Given the description of an element on the screen output the (x, y) to click on. 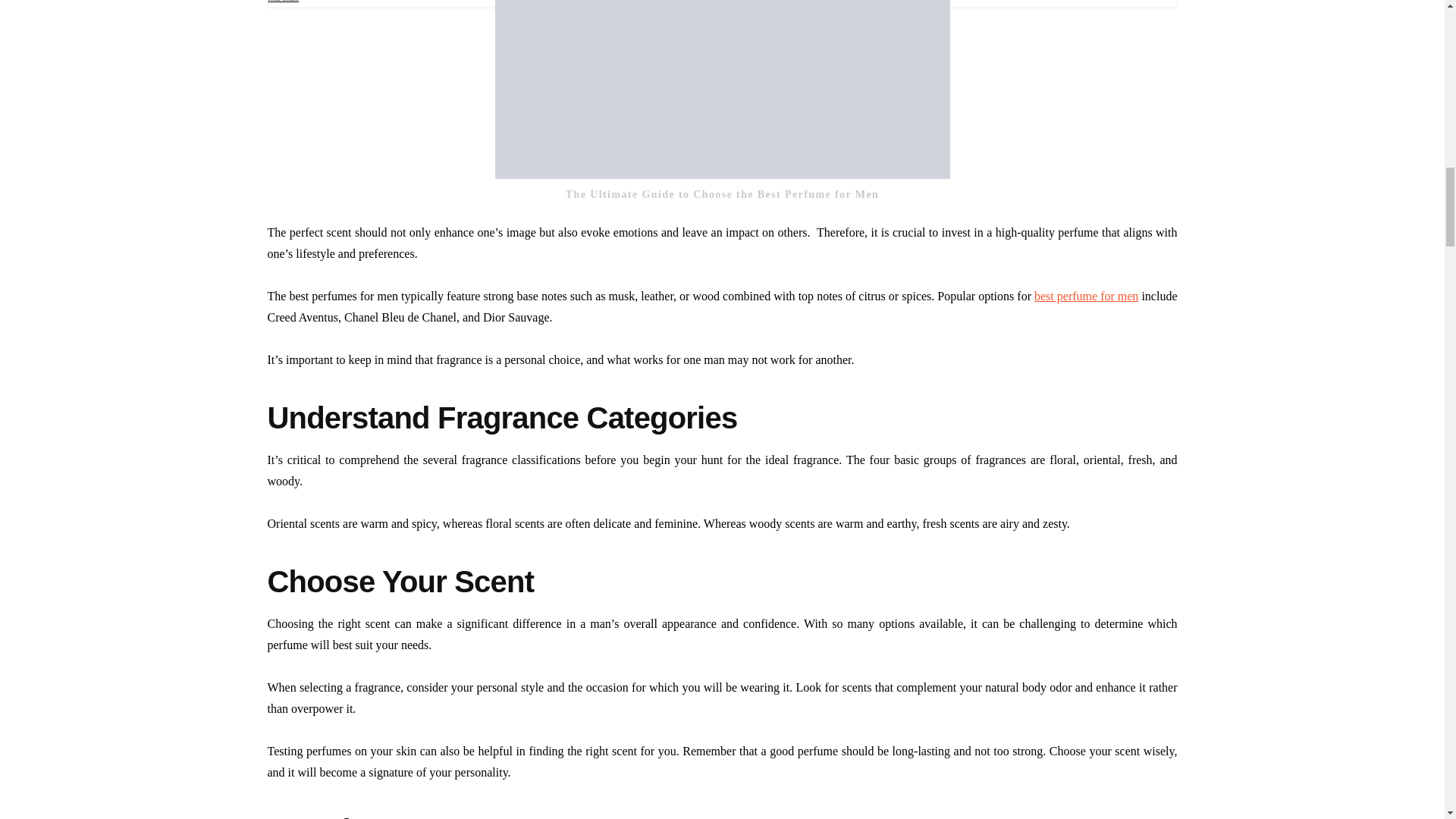
The Ultimate Guide to Choose the Best Perfume for Men (722, 89)
